Given the description of an element on the screen output the (x, y) to click on. 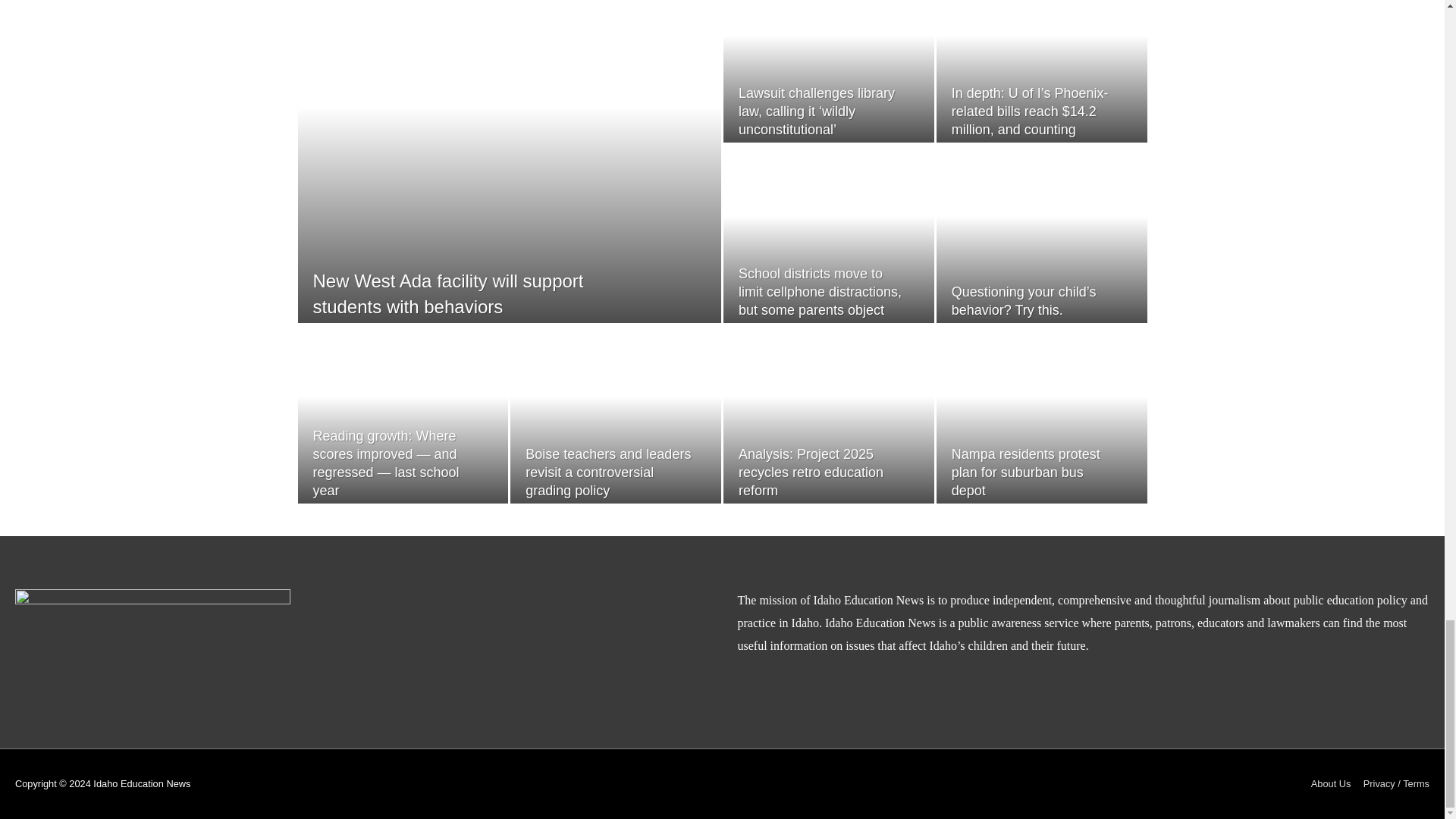
Analysis: Project 2025 recycles retro education reform (810, 471)
New West Ada facility will support students with behaviors (448, 293)
